Given the description of an element on the screen output the (x, y) to click on. 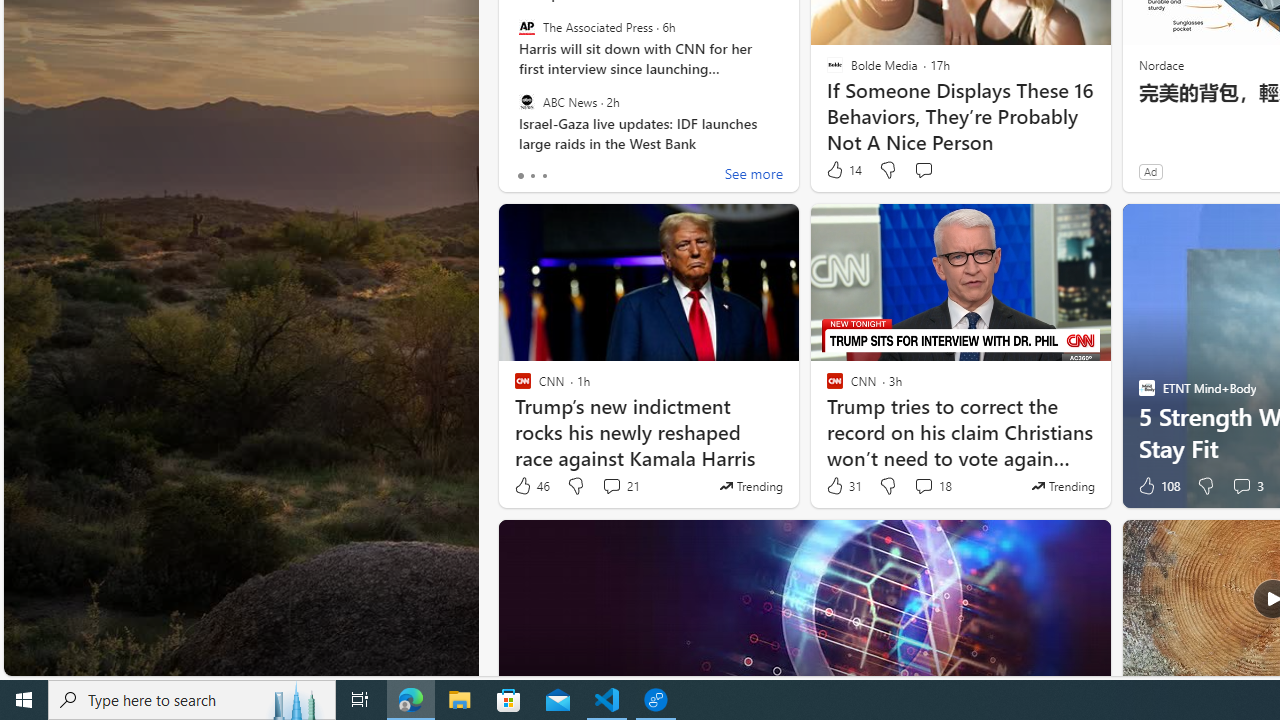
Ad (1150, 171)
View comments 21 Comment (611, 485)
108 Like (1157, 485)
Start the conversation (923, 170)
The Associated Press (526, 27)
View comments 18 Comment (932, 485)
This story is trending (1062, 485)
View comments 18 Comment (923, 485)
ABC News (526, 101)
46 Like (531, 485)
tab-1 (532, 175)
